Given the description of an element on the screen output the (x, y) to click on. 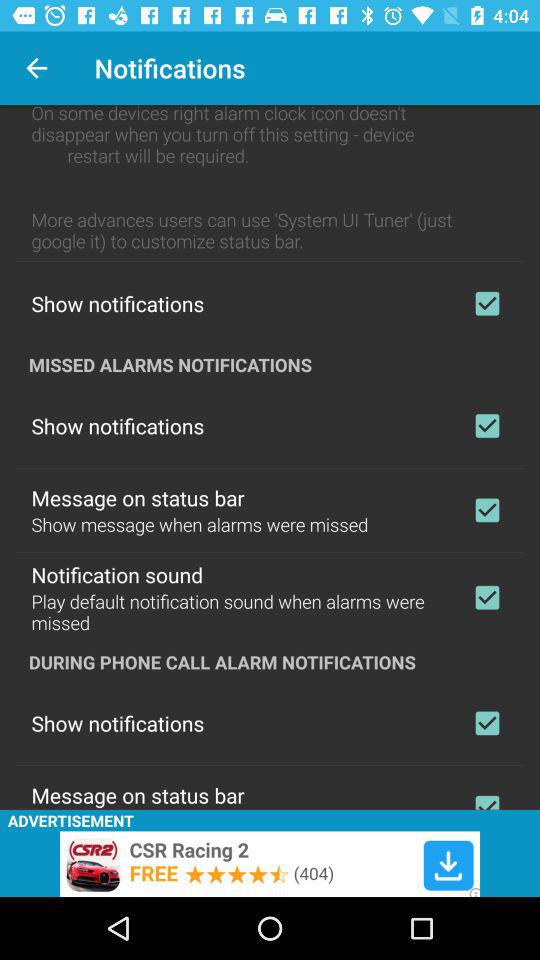
select advertisement (270, 864)
